Given the description of an element on the screen output the (x, y) to click on. 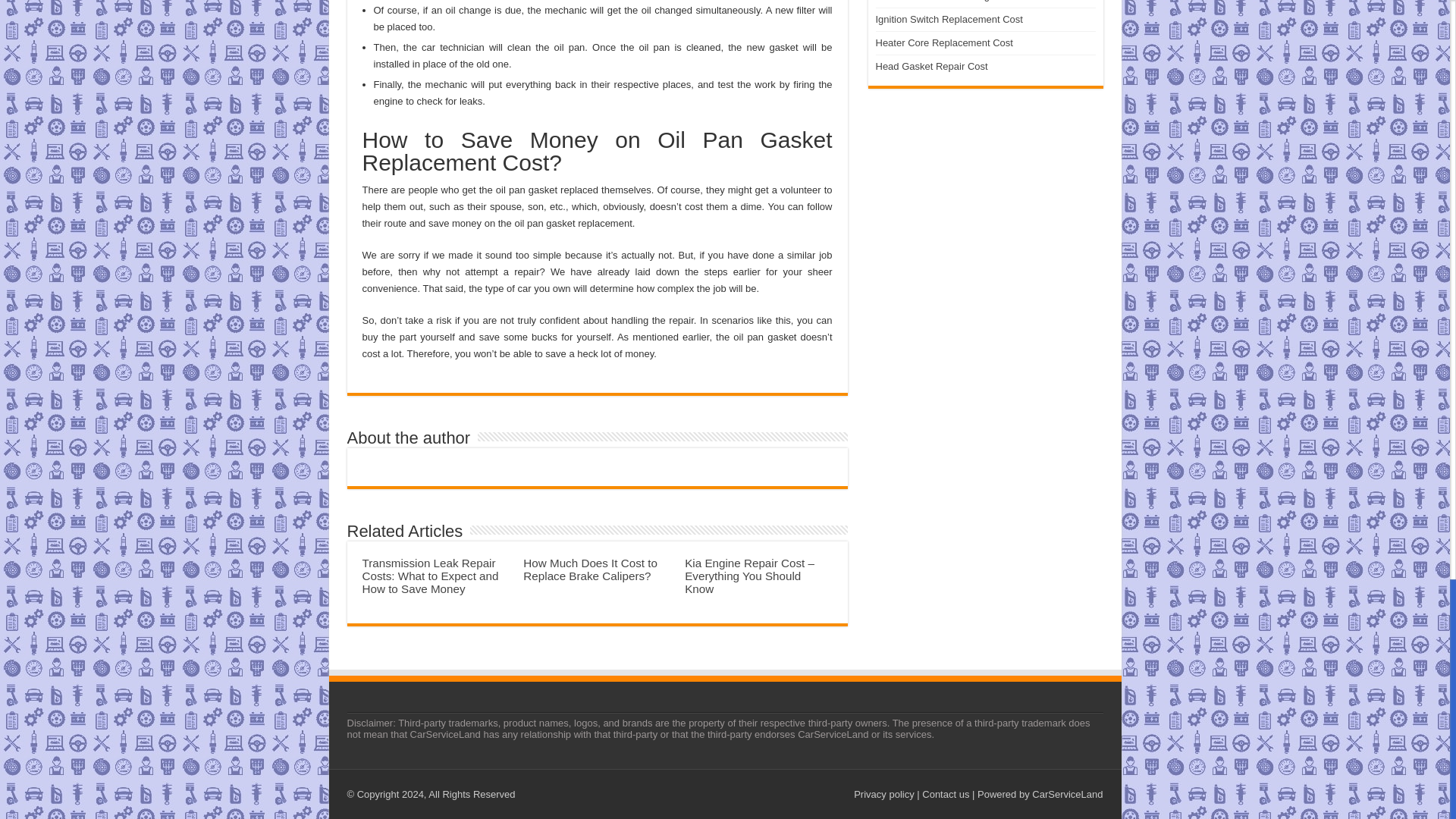
How Much Does It Cost to Replace Brake Calipers? (590, 569)
